Given the description of an element on the screen output the (x, y) to click on. 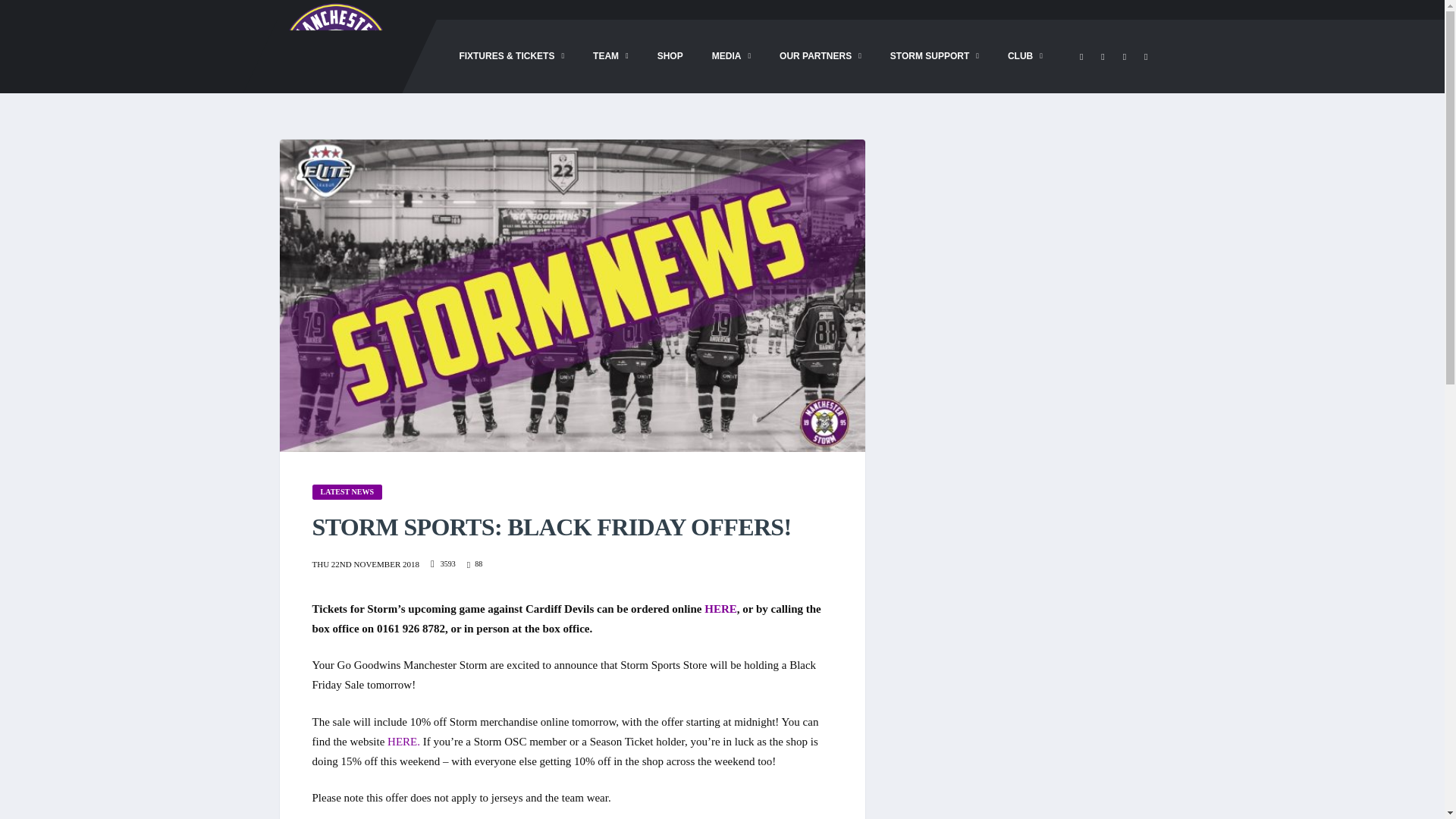
MEDIA (731, 56)
OUR PARTNERS (820, 56)
Like (474, 564)
